Given the description of an element on the screen output the (x, y) to click on. 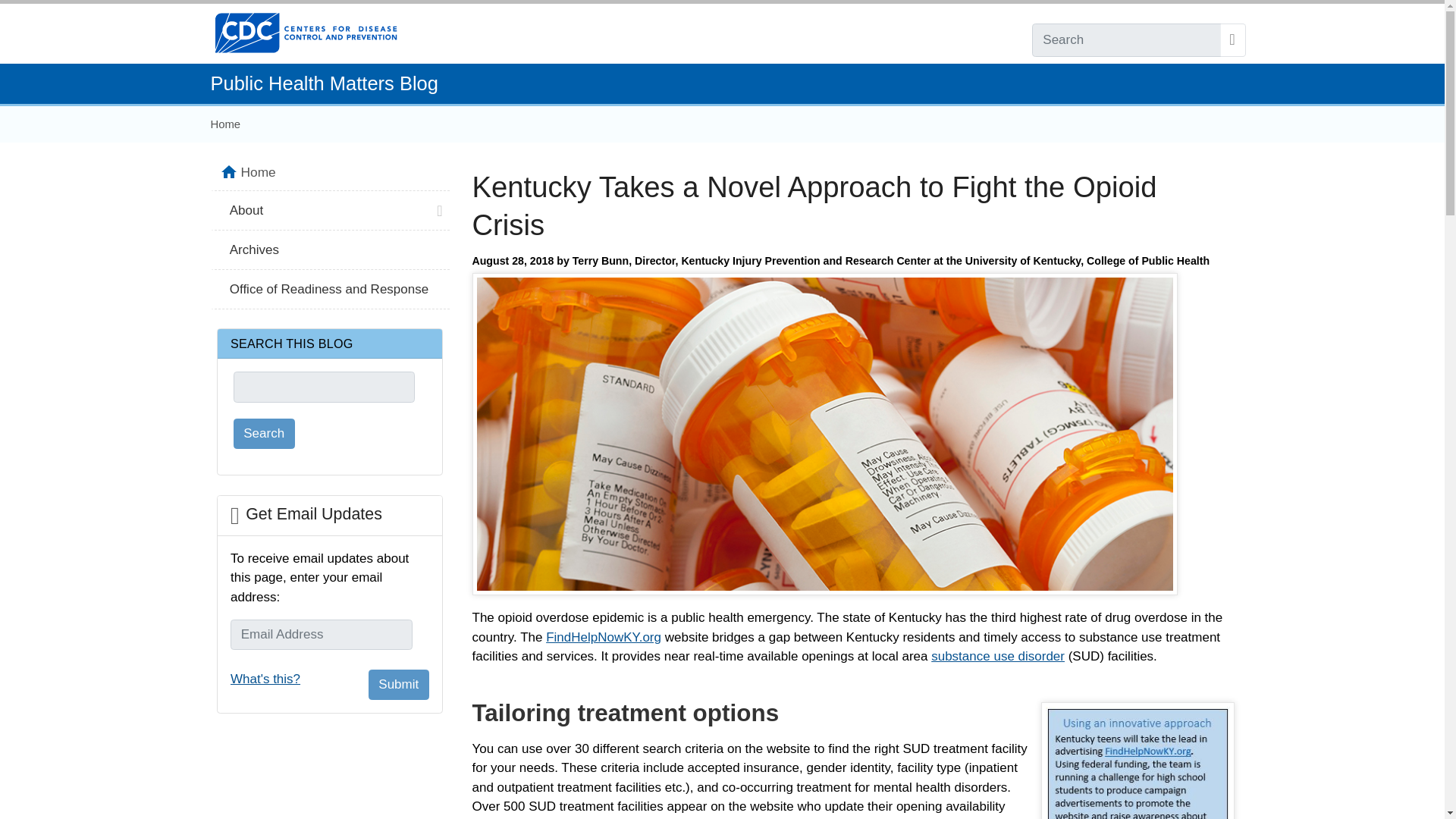
FindHelpNowKY.org (603, 636)
Home (226, 124)
substance use disorder (997, 656)
Public Health Matters Blog (324, 83)
Public Health Matters Blog (324, 83)
